Given the description of an element on the screen output the (x, y) to click on. 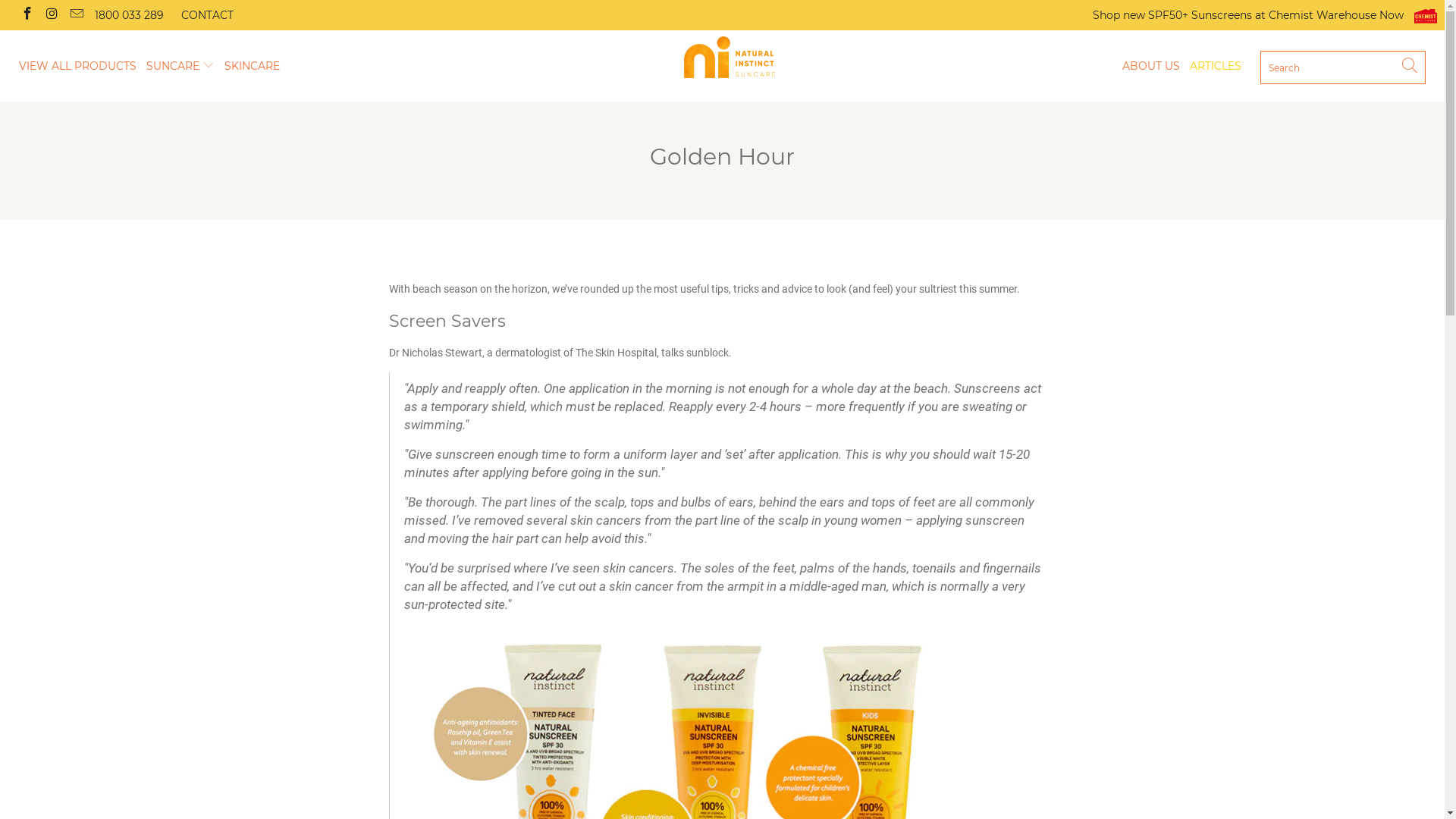
Natural Instinct Suncare on Facebook Element type: hover (26, 15)
CONTACT Element type: text (207, 15)
Shop new SPF50+ Sunscreens at Chemist Warehouse Now Element type: text (1264, 15)
SKINCARE Element type: text (251, 66)
Natural Instinct Suncare Element type: hover (729, 57)
VIEW ALL PRODUCTS Element type: text (77, 66)
SUNCARE Element type: text (180, 66)
1800 033 289 Element type: text (128, 15)
Email Natural Instinct Suncare Element type: hover (75, 15)
Natural Instinct Suncare on Instagram Element type: hover (51, 15)
ABOUT US Element type: text (1150, 66)
ARTICLES Element type: text (1215, 66)
